Given the description of an element on the screen output the (x, y) to click on. 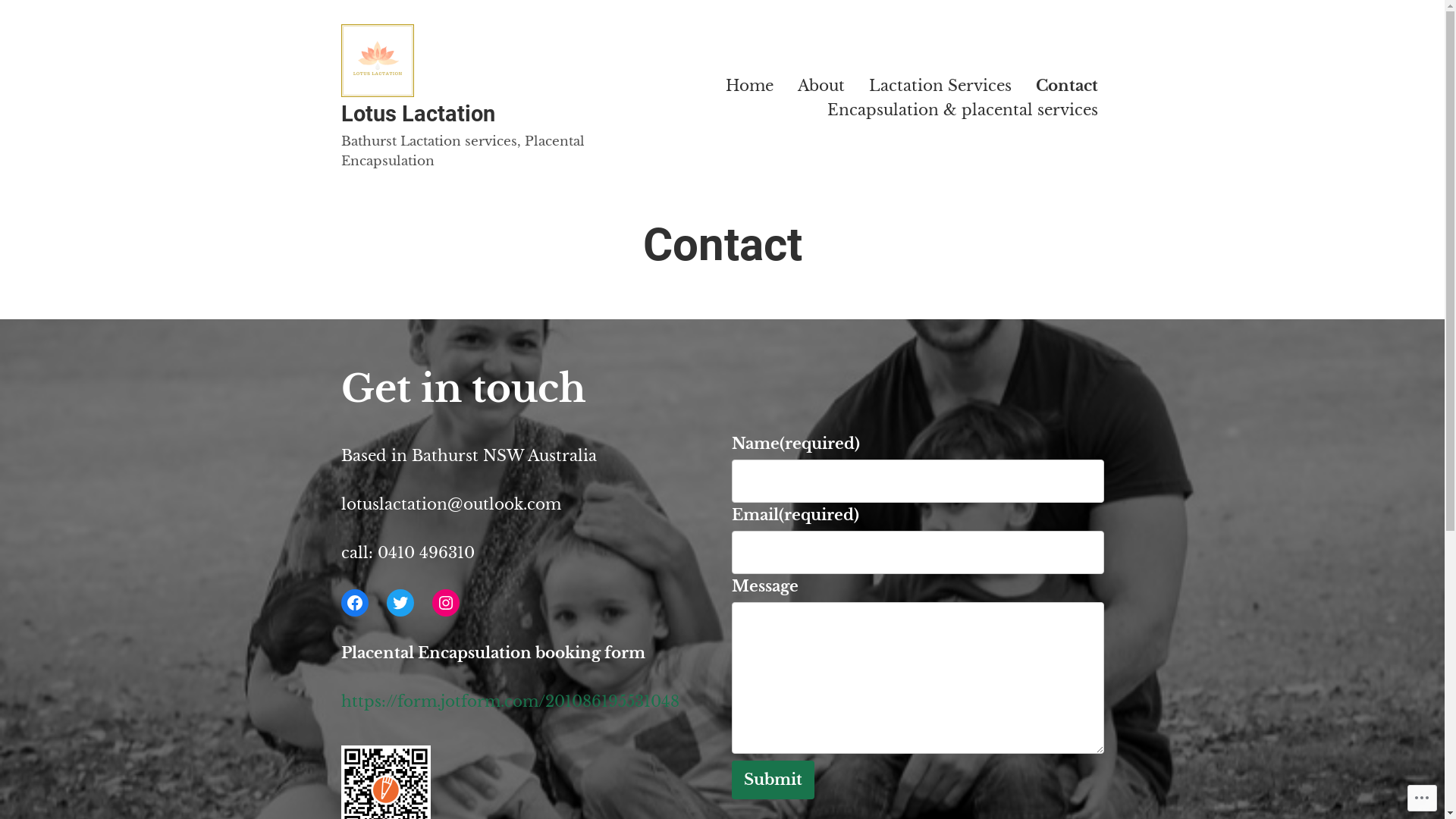
Lactation Services Element type: text (940, 85)
Contact Element type: text (1066, 85)
https://form.jotform.com/201086195531048 Element type: text (510, 701)
About Element type: text (820, 85)
Submit Element type: text (772, 779)
Home Element type: text (748, 85)
Encapsulation & placental services Element type: text (961, 109)
Lotus Lactation Element type: text (418, 113)
